Given the description of an element on the screen output the (x, y) to click on. 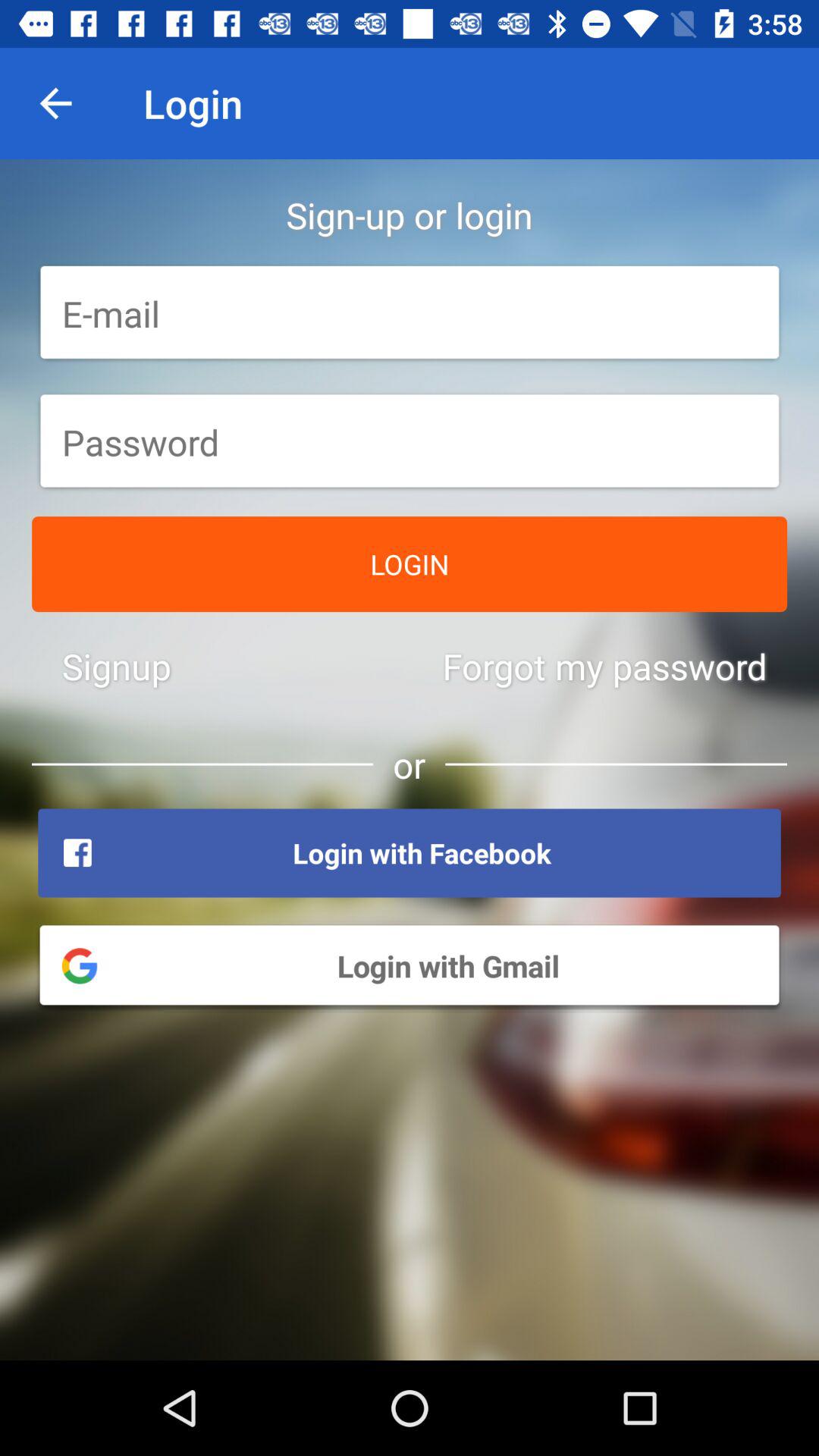
select item next to login (55, 103)
